Given the description of an element on the screen output the (x, y) to click on. 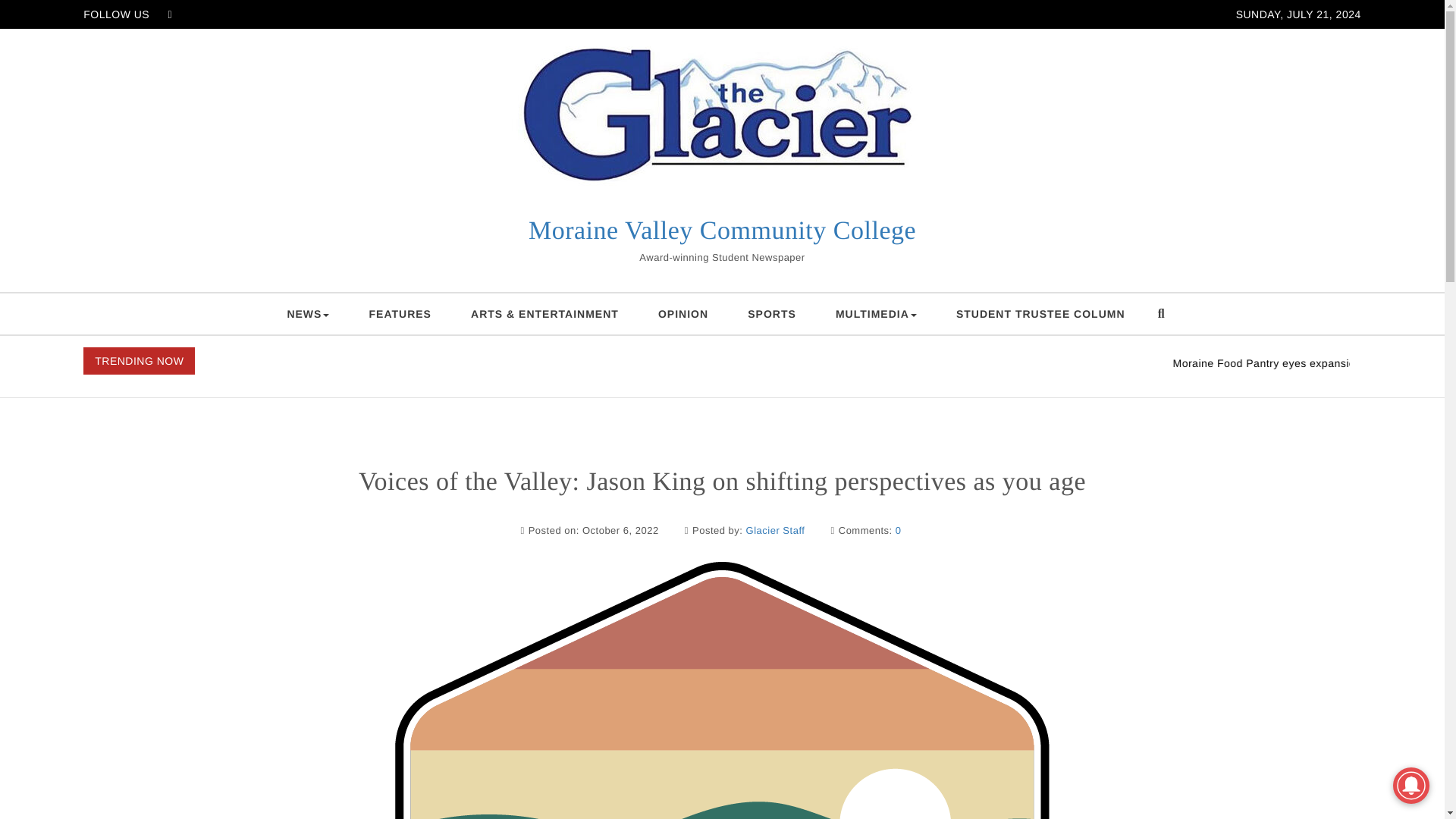
NEWS (307, 313)
MULTIMEDIA (875, 313)
OPINION (683, 313)
STUDENT TRUSTEE COLUMN (1039, 313)
Moraine Valley Community College (721, 230)
SPORTS (771, 313)
Glacier Staff (775, 530)
FEATURES (399, 313)
